Given the description of an element on the screen output the (x, y) to click on. 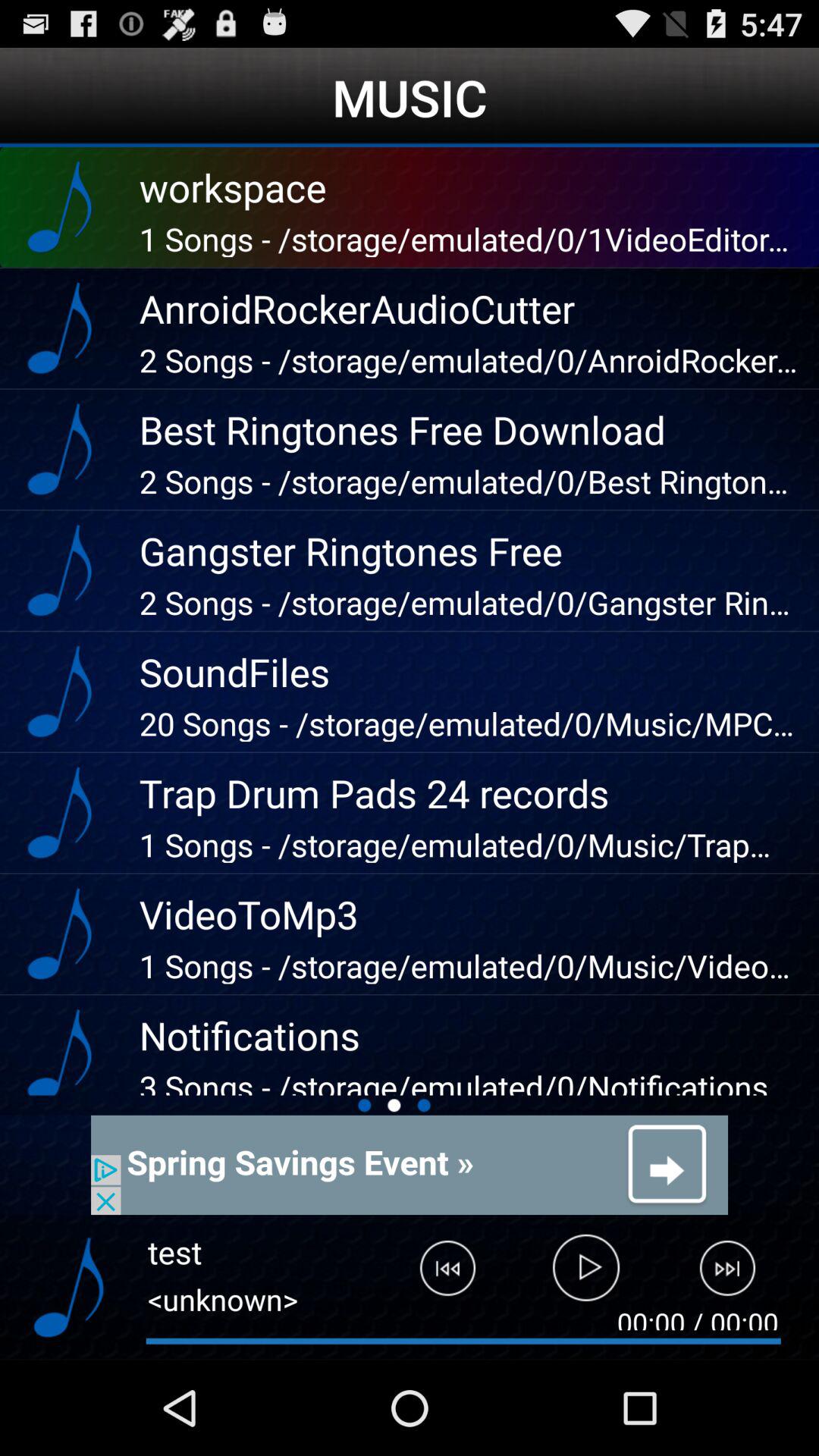
play song (586, 1274)
